Given the description of an element on the screen output the (x, y) to click on. 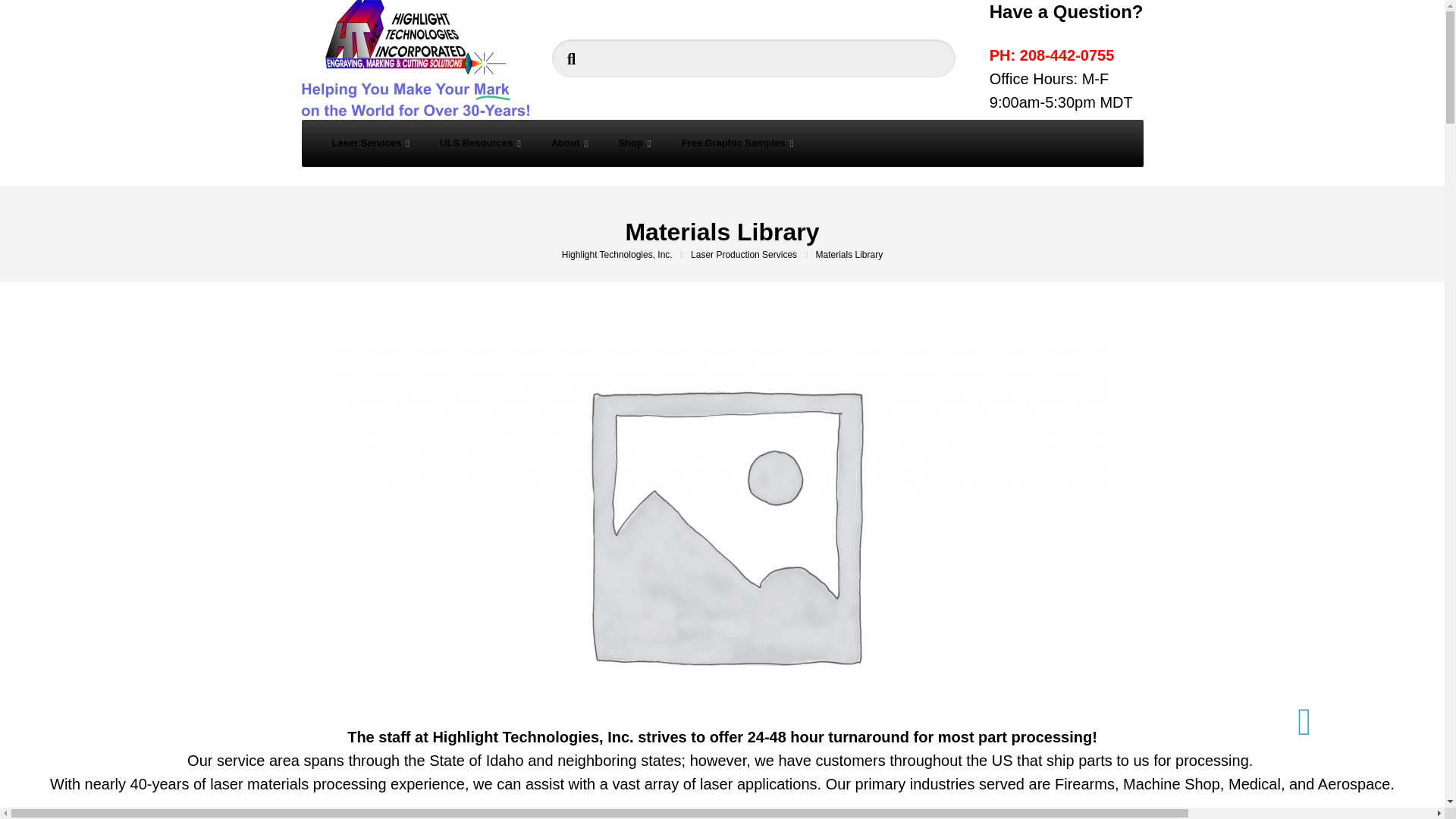
Go to Materials Library. (849, 254)
ULS Resources (480, 143)
Laser Services (371, 143)
Go to Highlight Technologies, Inc.. (626, 254)
Go to Laser Production Services. (752, 254)
PH: 208-442-0755 (1052, 54)
Shop (633, 143)
About (568, 143)
